Given the description of an element on the screen output the (x, y) to click on. 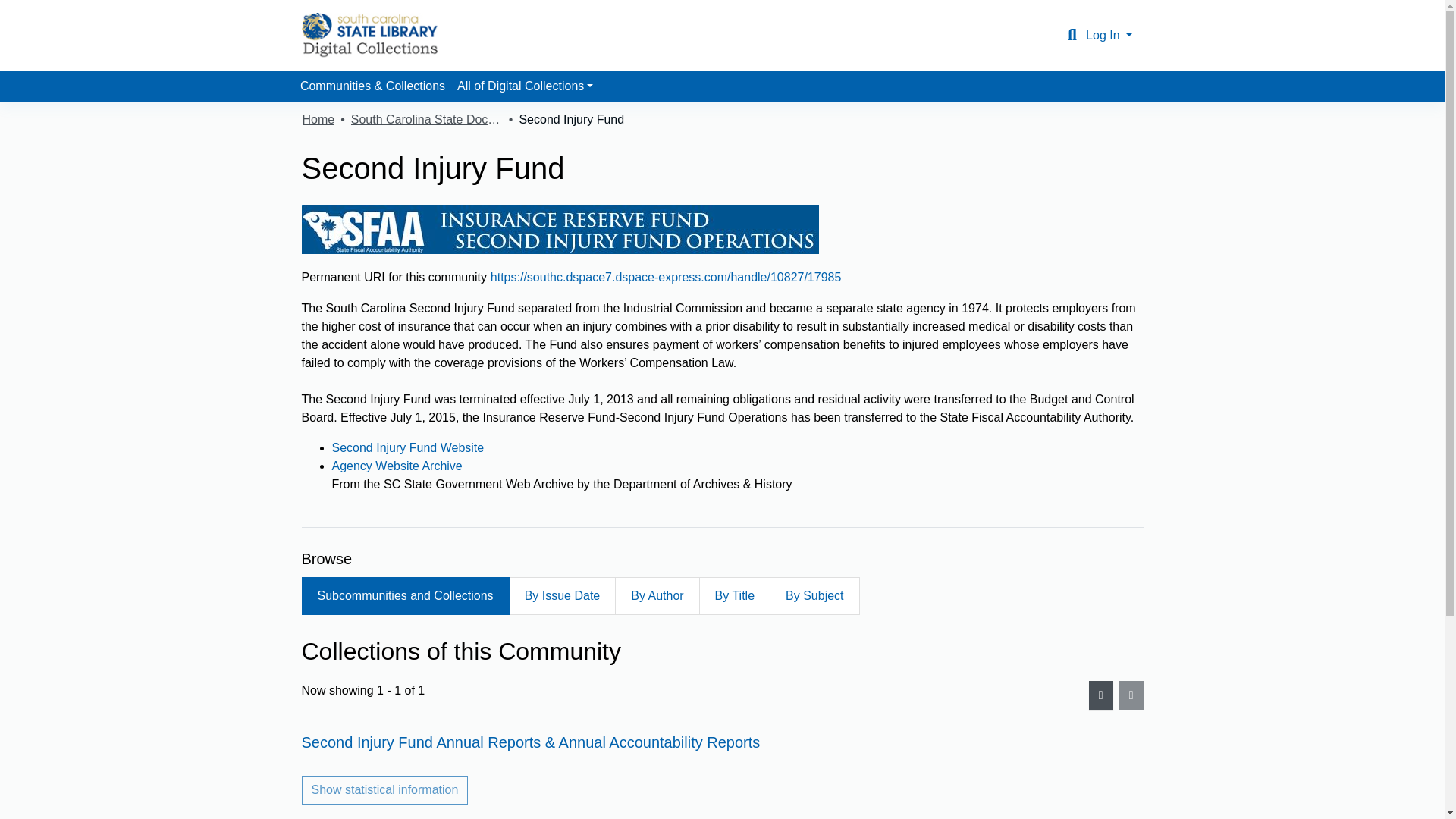
Log In (1108, 34)
By Issue Date (561, 596)
Show statistical information (384, 789)
Search (1072, 35)
Home (317, 119)
South Carolina State Documents Depository (426, 119)
Subcommunities and Collections (405, 596)
Agency Website Archive (397, 465)
By Title (734, 596)
Second Injury Fund Website (407, 447)
